Given the description of an element on the screen output the (x, y) to click on. 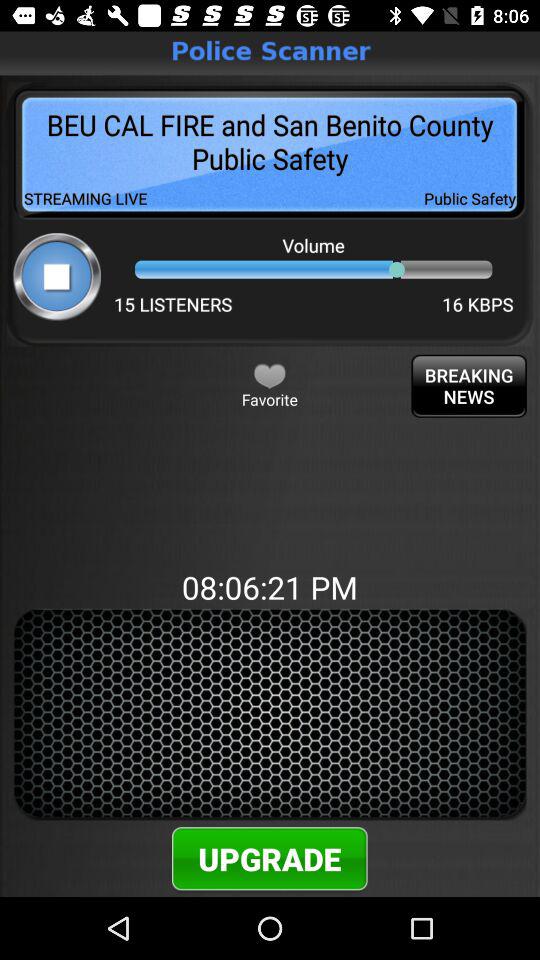
press button next to the breaking
news icon (269, 375)
